Given the description of an element on the screen output the (x, y) to click on. 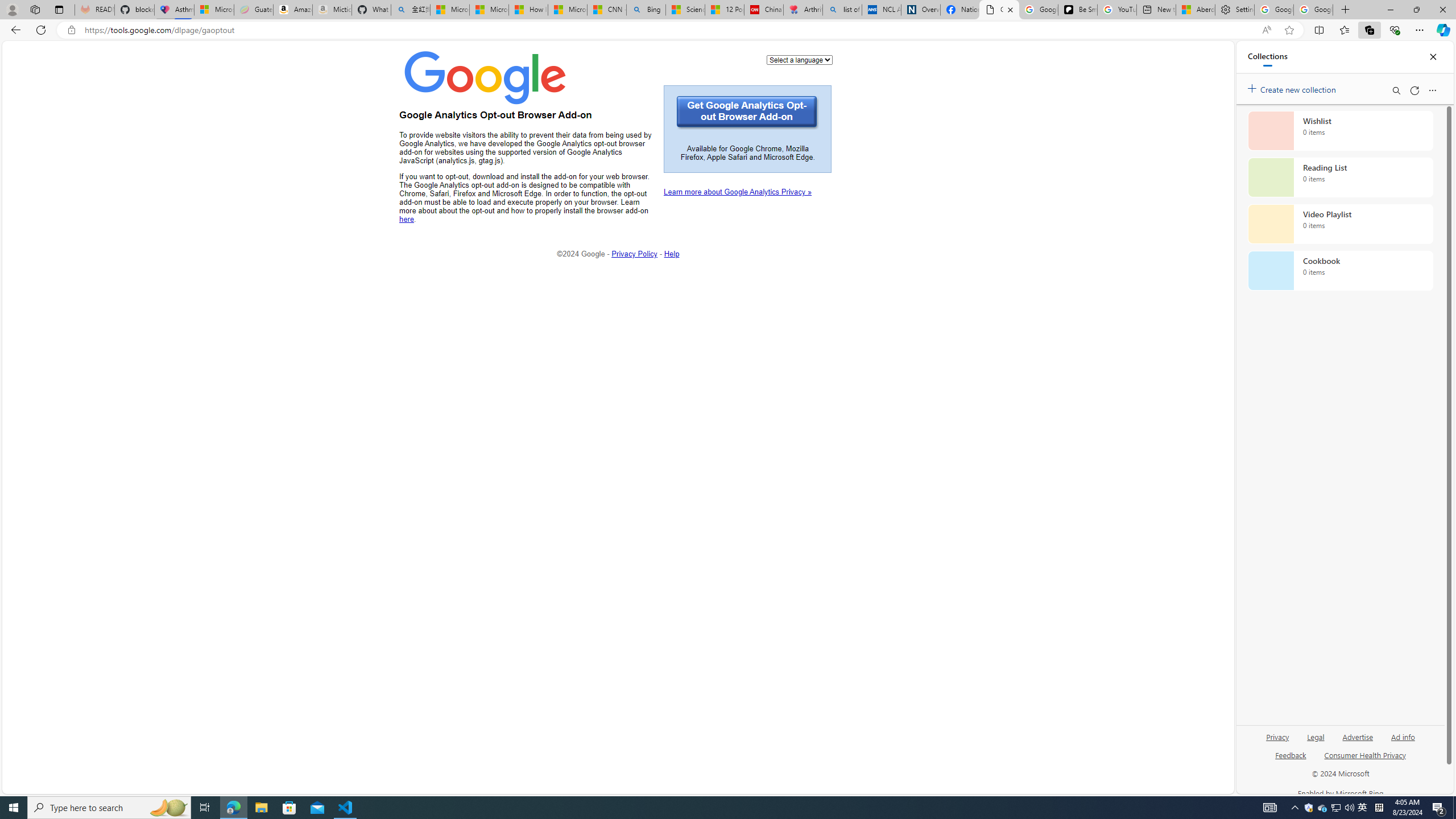
More options menu (1432, 90)
Language (799, 59)
Consumer Health Privacy (1364, 754)
How I Got Rid of Microsoft Edge's Unnecessary Features (528, 9)
Google Analytics Opt-out Browser Add-on Download Page (999, 9)
here (406, 218)
Asthma Inhalers: Names and Types (174, 9)
Legal (1315, 736)
Privacy (1277, 741)
